Given the description of an element on the screen output the (x, y) to click on. 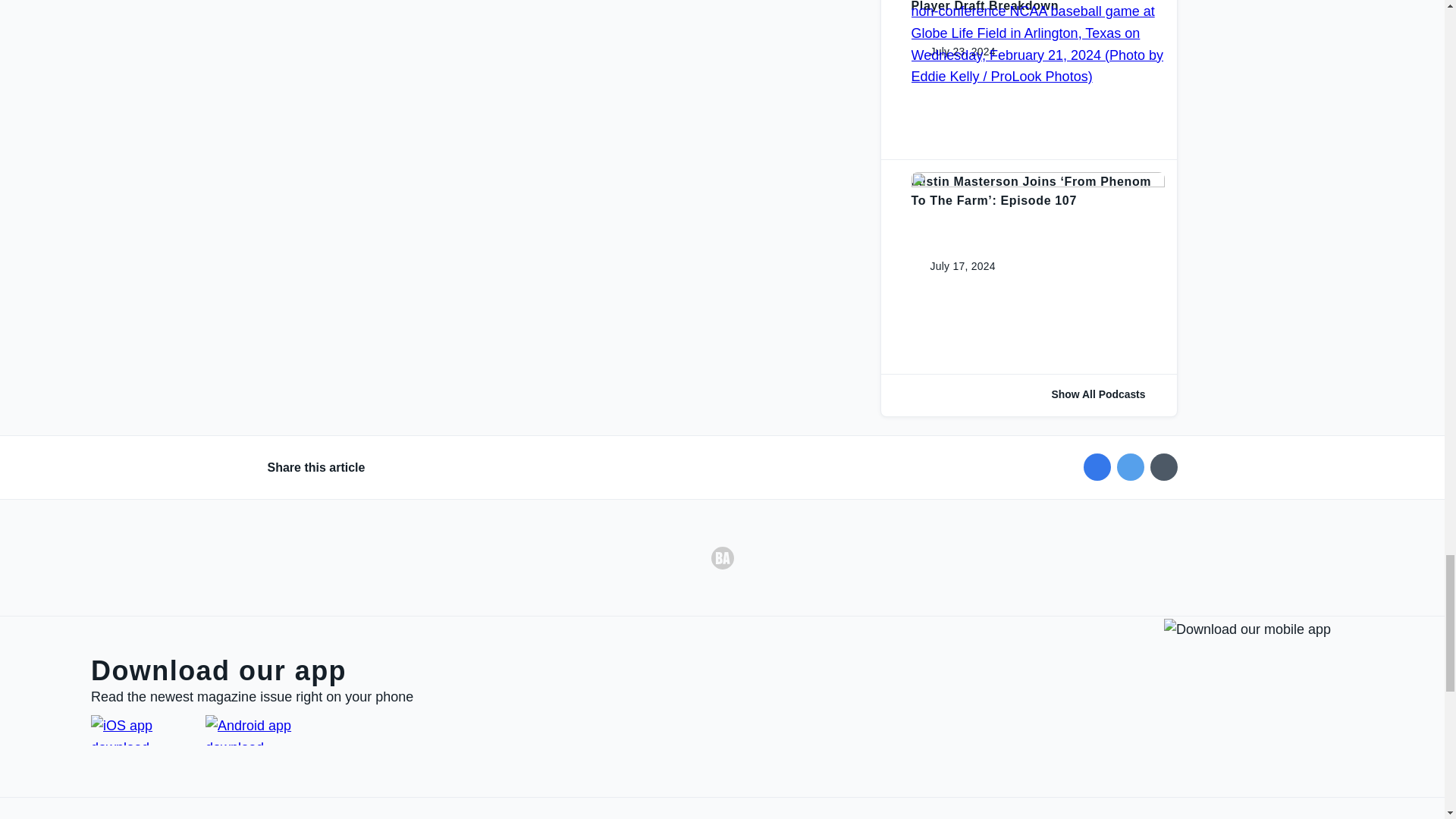
Share on Facebook (1096, 466)
Share via email (1163, 466)
Share on Twitter (1129, 466)
